Given the description of an element on the screen output the (x, y) to click on. 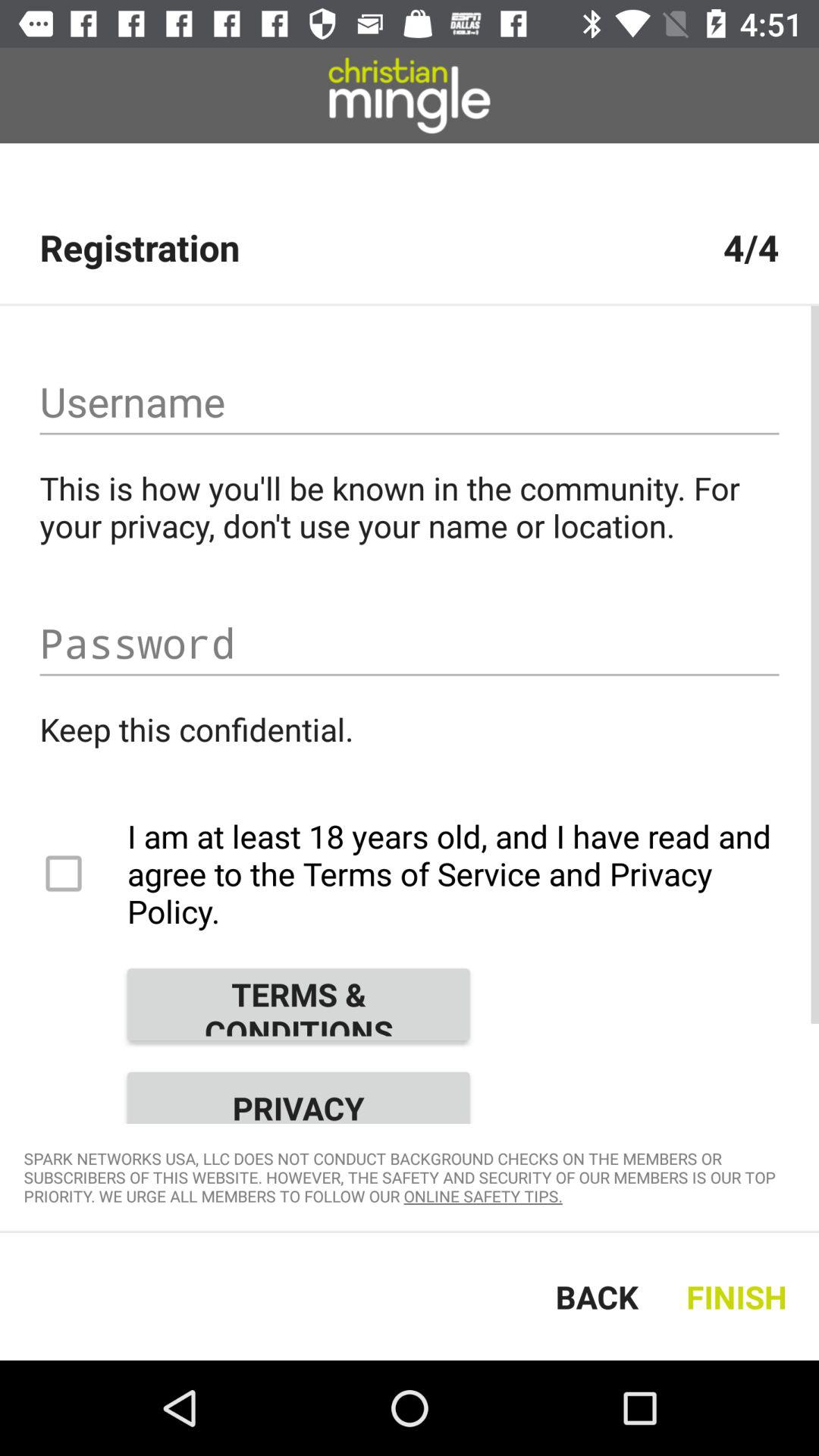
turn on the item below keep this confidential. (409, 873)
